Given the description of an element on the screen output the (x, y) to click on. 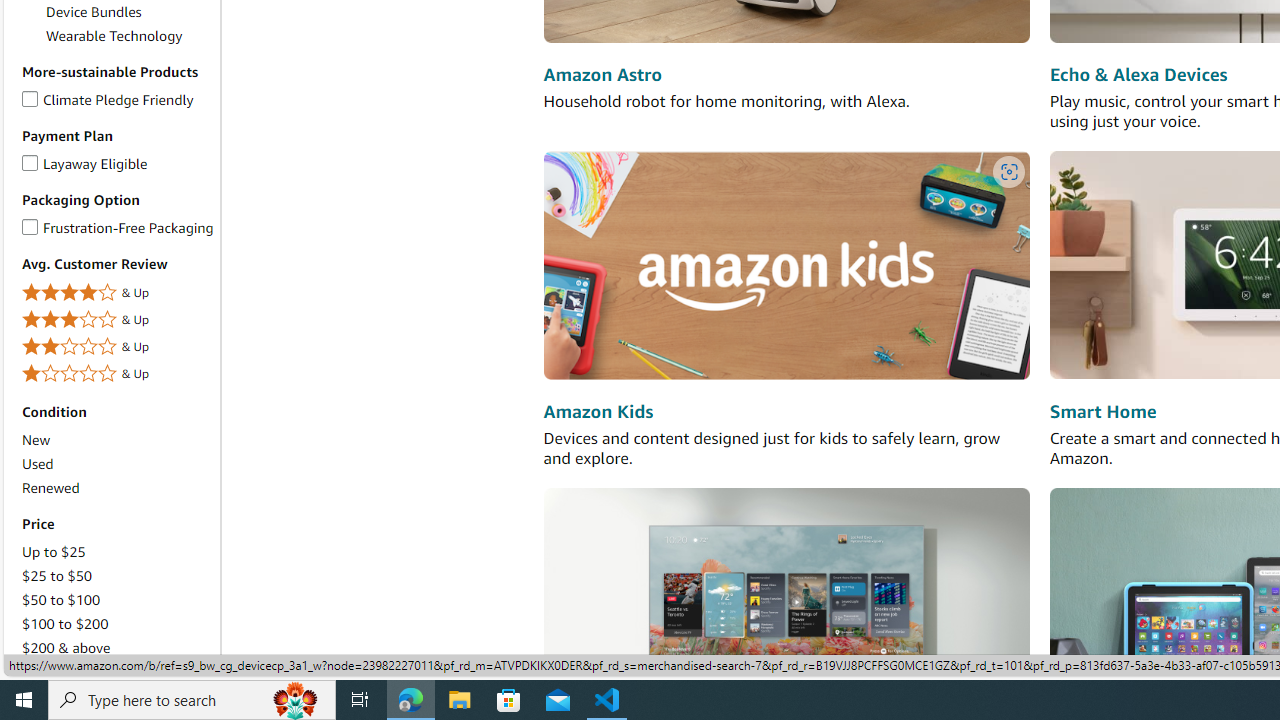
Frustration-Free Packaging (29, 223)
Wearable Technology (114, 35)
New (36, 440)
Frustration-Free Packaging Frustration-Free Packaging (117, 227)
Layaway Eligible (29, 159)
1 Star & Up& Up (117, 373)
Used (37, 464)
1 Star & Up (117, 373)
Renewed (50, 487)
$200 & above (117, 647)
Climate Pledge Friendly (29, 95)
Device Bundles (94, 11)
Climate Pledge FriendlyClimate Pledge Friendly (117, 100)
$200 & above (66, 647)
Used (117, 463)
